Given the description of an element on the screen output the (x, y) to click on. 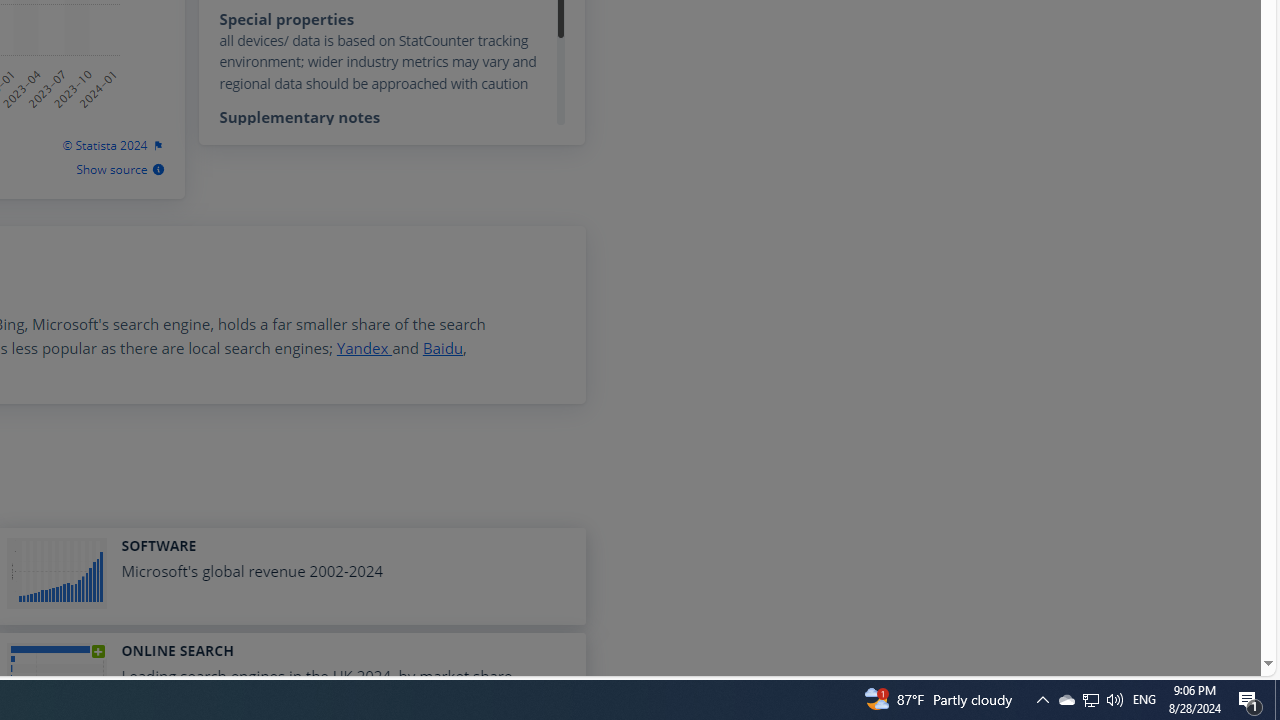
Show source (120, 170)
Yandex  (363, 348)
Baidu (442, 348)
